Given the description of an element on the screen output the (x, y) to click on. 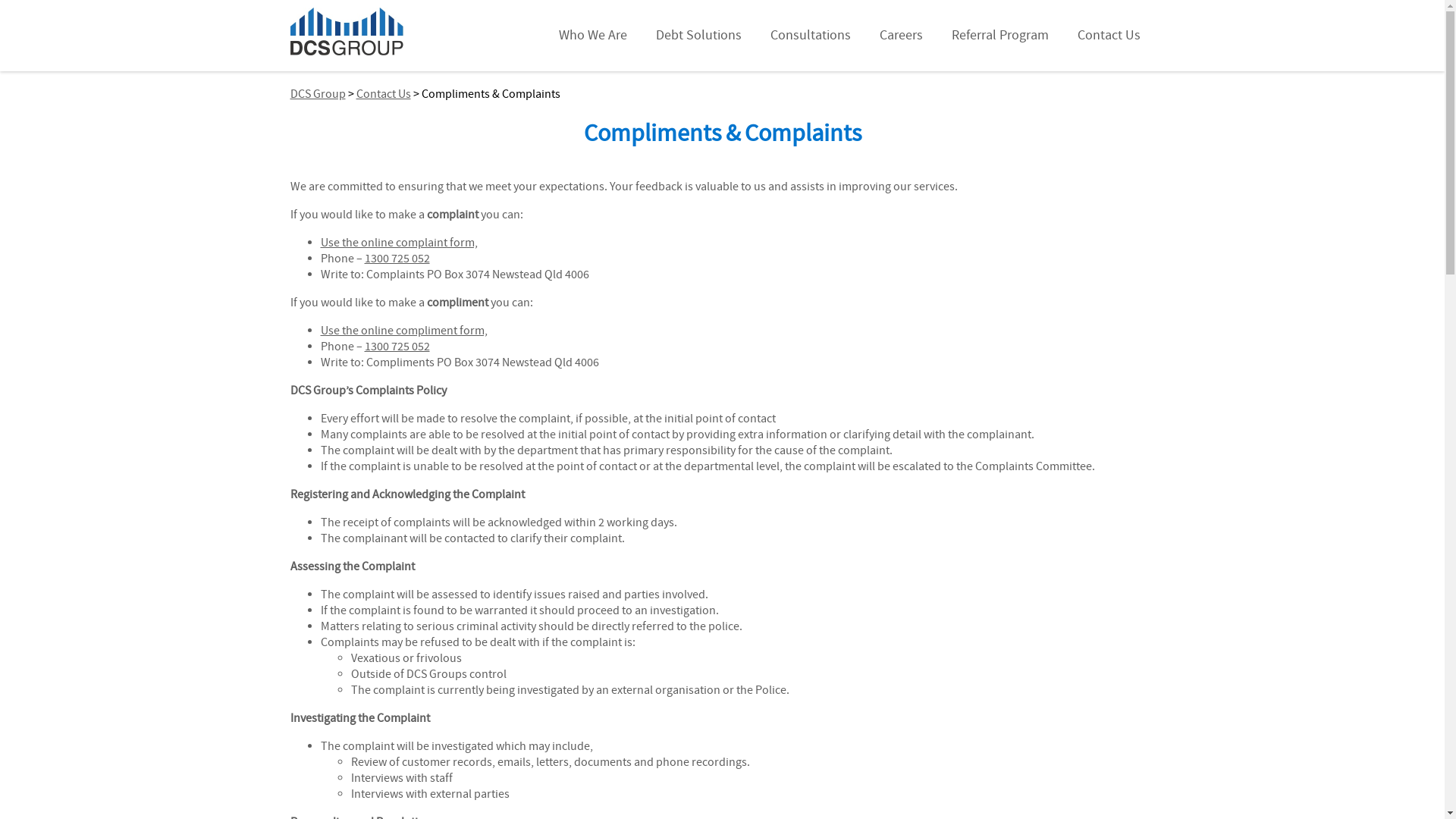
Who We Are Element type: text (1349, 23)
Referral Program Element type: text (1349, 188)
Contact Us Element type: text (1349, 211)
Referral Program Element type: text (1000, 35)
Consultations Element type: text (809, 35)
Careers Element type: text (900, 35)
Debt Solutions Element type: text (698, 35)
Debt Solutions Element type: text (1349, 117)
Creditors Element type: text (1364, 258)
1300 725 052 Element type: text (396, 258)
Media Room Element type: text (1364, 94)
Feedback Element type: text (1364, 282)
Contact Us Element type: text (383, 94)
1300 725 052 Element type: text (396, 346)
Management Element type: text (1364, 70)
Careers Element type: text (1349, 164)
Who We Are Element type: text (592, 35)
DCS Group Element type: text (317, 94)
Use the online complaint form, Element type: text (398, 243)
Use the online compliment form, Element type: text (403, 330)
Company Element type: text (1364, 47)
Client Support Element type: text (1364, 235)
Contact Us Element type: text (1108, 35)
Consultations Element type: text (1349, 141)
